Given the description of an element on the screen output the (x, y) to click on. 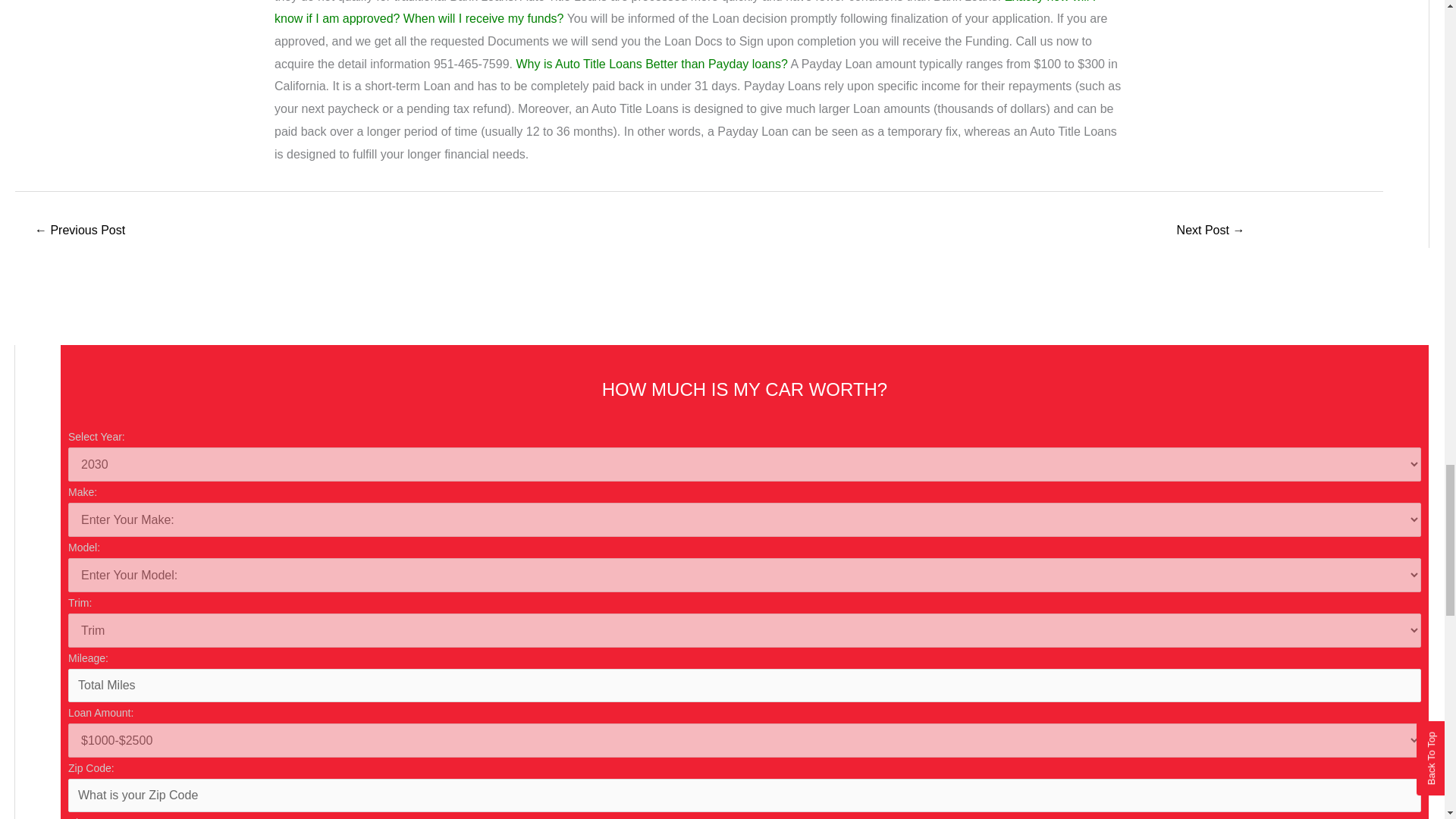
Commercial Vehicle Big Rigs Truck Title Loans Commerce CA (79, 231)
What is your Zip Code (744, 795)
Total Miles (744, 685)
Commercial Vehicle Big Rigs Truck Title Loans Covina CA (1210, 231)
